Given the description of an element on the screen output the (x, y) to click on. 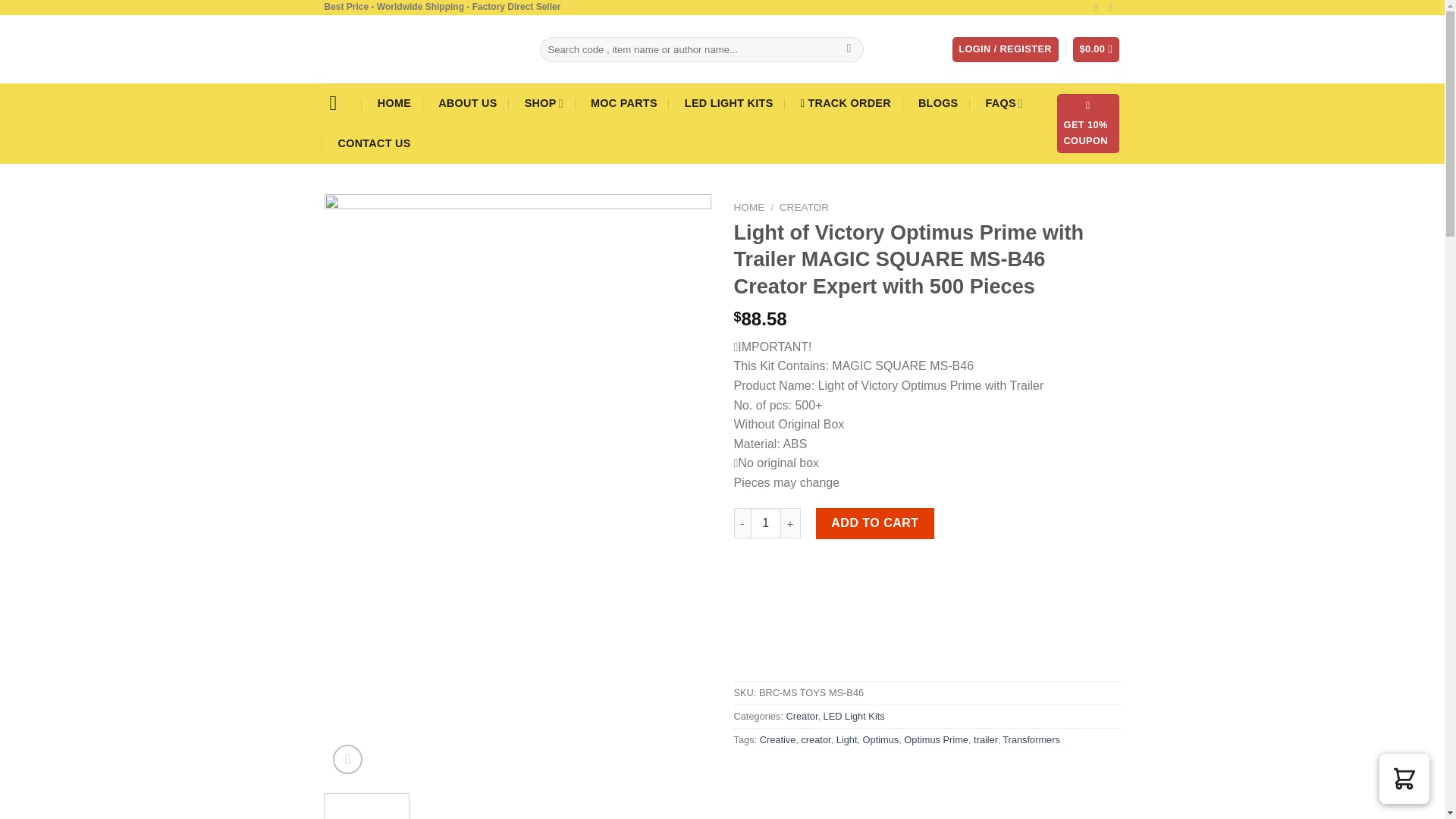
BLOGS (937, 103)
1 (765, 522)
CONTACT US (372, 143)
MOC PARTS (623, 103)
FAQS (1003, 103)
MOC Brick Land - The Best non LEGO MOC Parts and Sets Store (420, 49)
Sign up for Newsletter (1088, 123)
LED LIGHT KITS (728, 103)
HOME (394, 103)
Cart (1096, 49)
Search (848, 49)
SHOP (544, 103)
ABOUT US (467, 103)
